Given the description of an element on the screen output the (x, y) to click on. 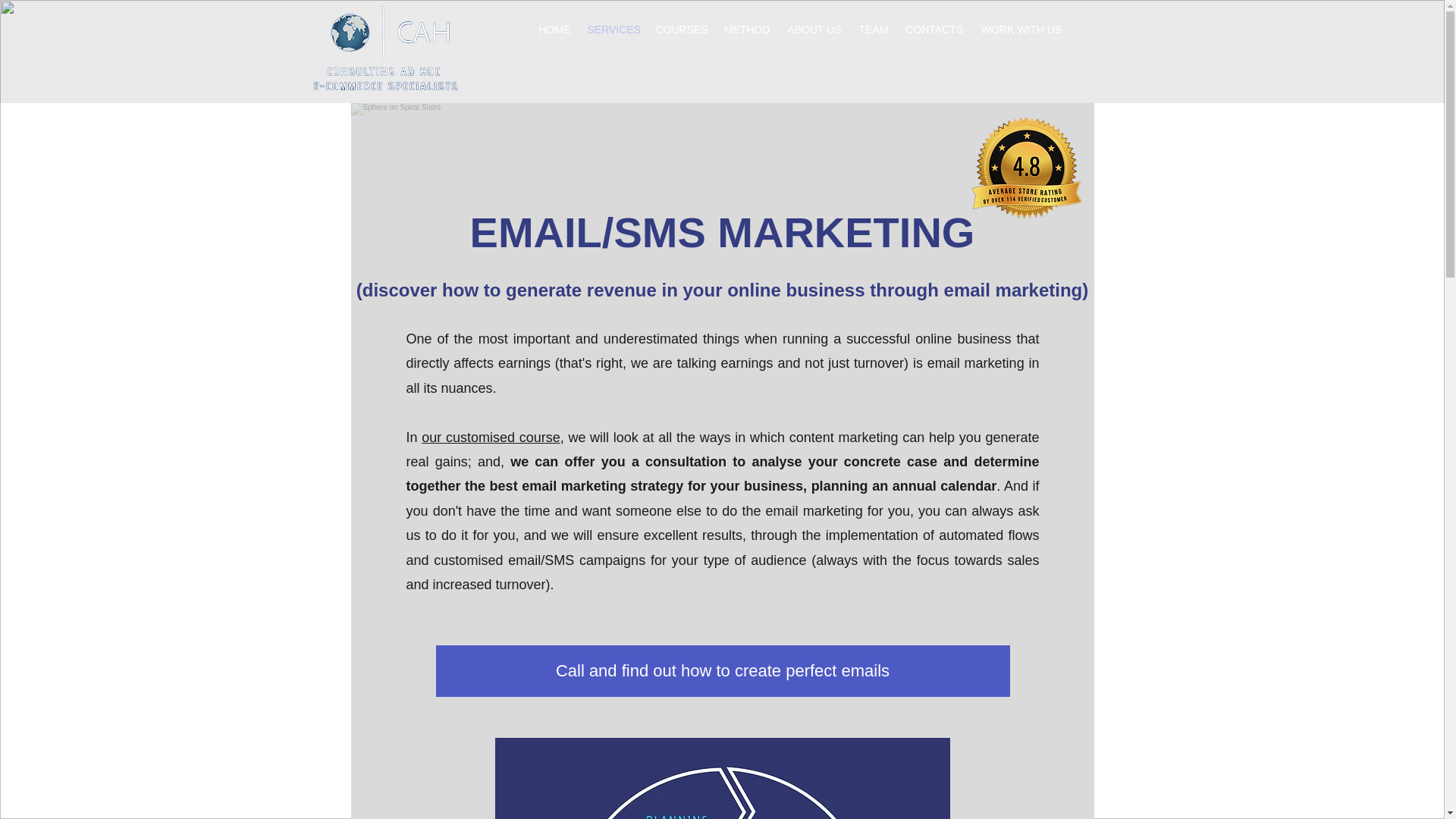
CONTACTS (933, 29)
our customised course (490, 437)
WORK WITH US (1021, 29)
HOME (555, 29)
ABOUT US (813, 29)
METHOD (747, 29)
TEAM (873, 29)
COURSES (681, 29)
SERVICES (613, 29)
Call and find out how to create perfect emails (722, 670)
